Given the description of an element on the screen output the (x, y) to click on. 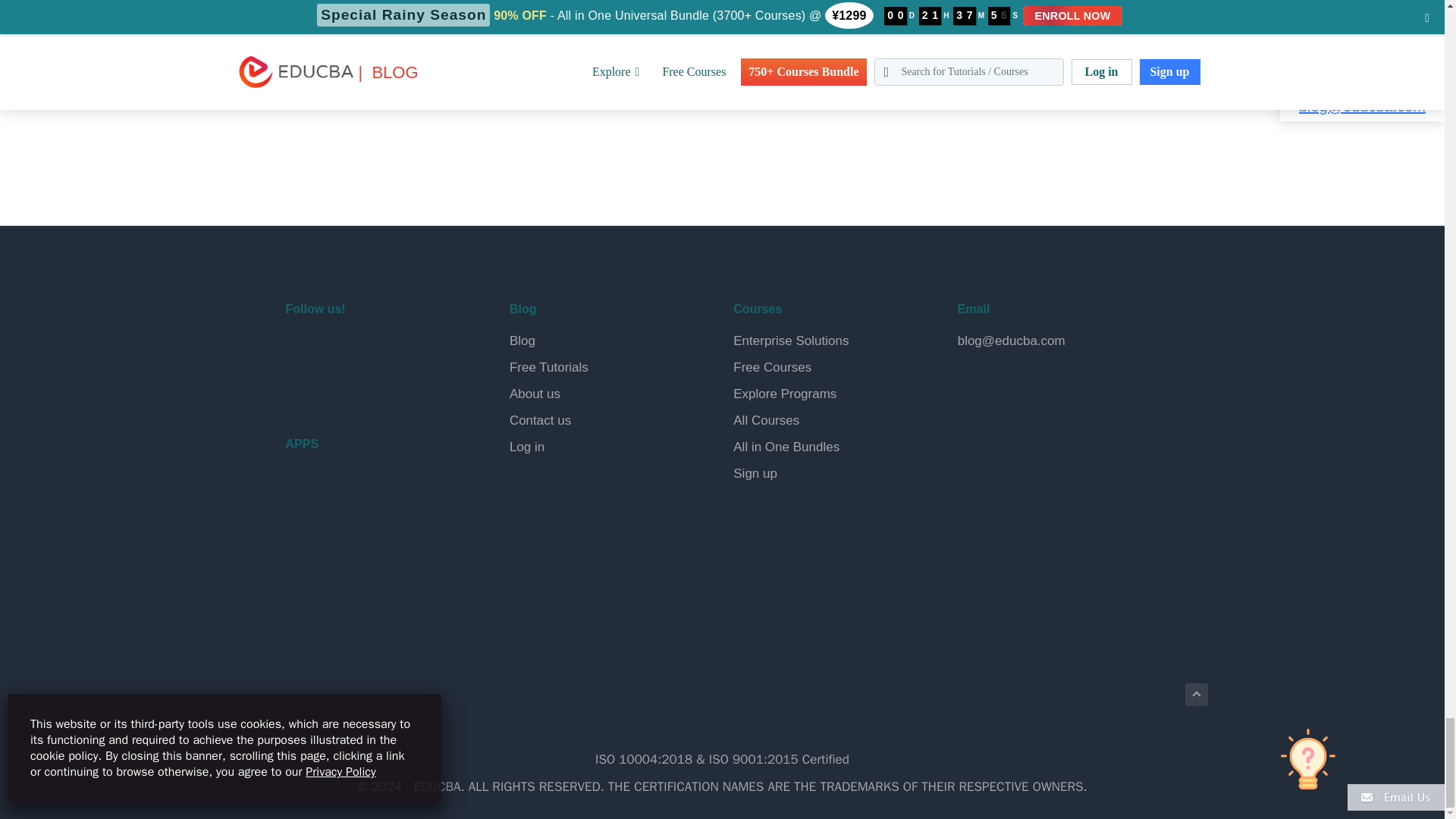
EDUCBA Facebook (300, 349)
EDUCBA Instagram (408, 349)
EDUCBA LinkedIN (371, 349)
EDUCBA Twitter (336, 349)
